Given the description of an element on the screen output the (x, y) to click on. 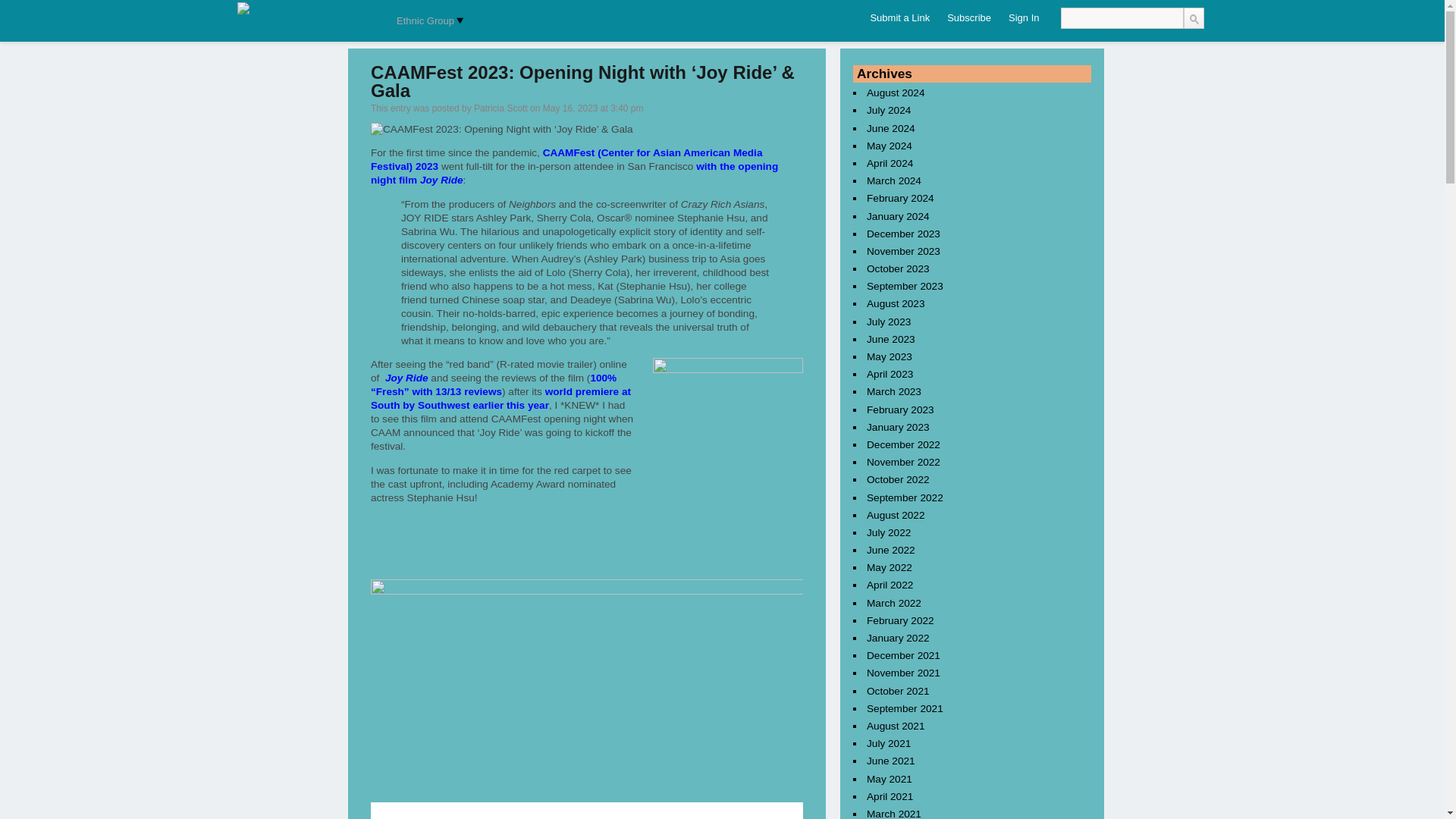
Joy Ride (406, 378)
Subscribe (969, 17)
Ethnic Group (426, 20)
2023 (426, 165)
Search (1193, 17)
Search (1193, 17)
world premiere at South by Southwest earlier this year (500, 398)
with the opening night film Joy Ride (574, 172)
Sign In (1024, 17)
Ethnic Group (426, 20)
Submit a Link (899, 17)
